Given the description of an element on the screen output the (x, y) to click on. 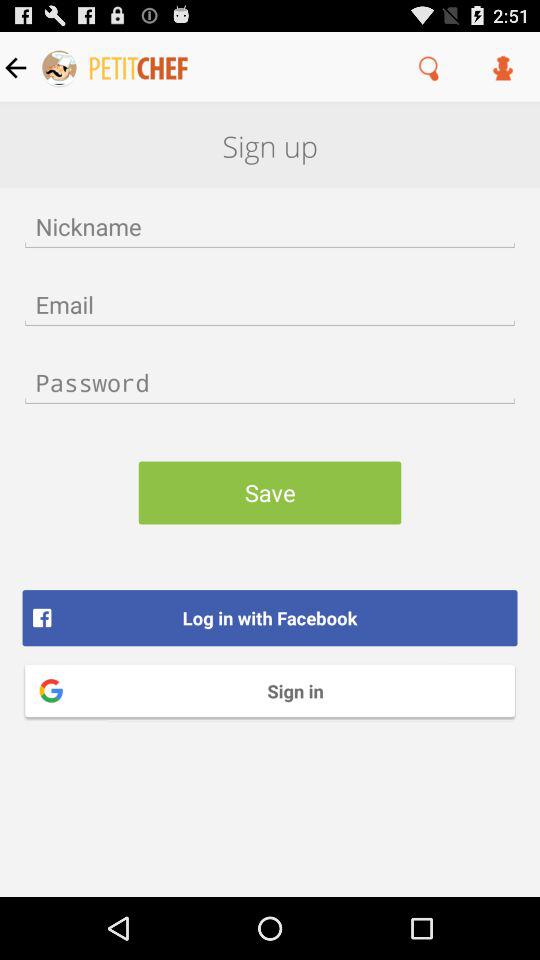
password entry field (269, 382)
